Given the description of an element on the screen output the (x, y) to click on. 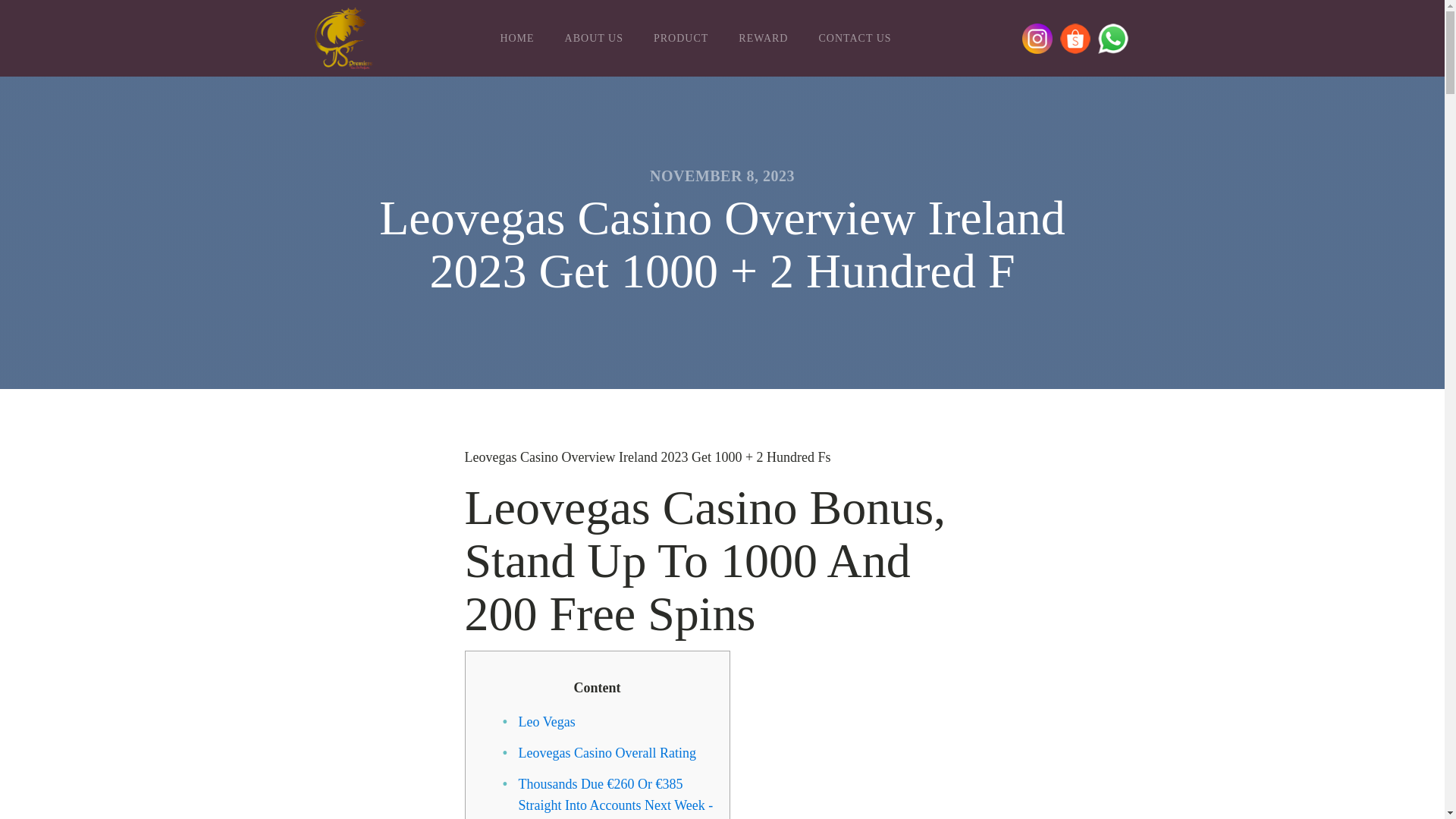
REWARD (763, 38)
CONTACT US (854, 38)
PRODUCT (681, 38)
ABOUT US (594, 38)
Leo Vegas (546, 721)
HOME (516, 38)
Leovegas Casino Overall Rating (606, 752)
